Given the description of an element on the screen output the (x, y) to click on. 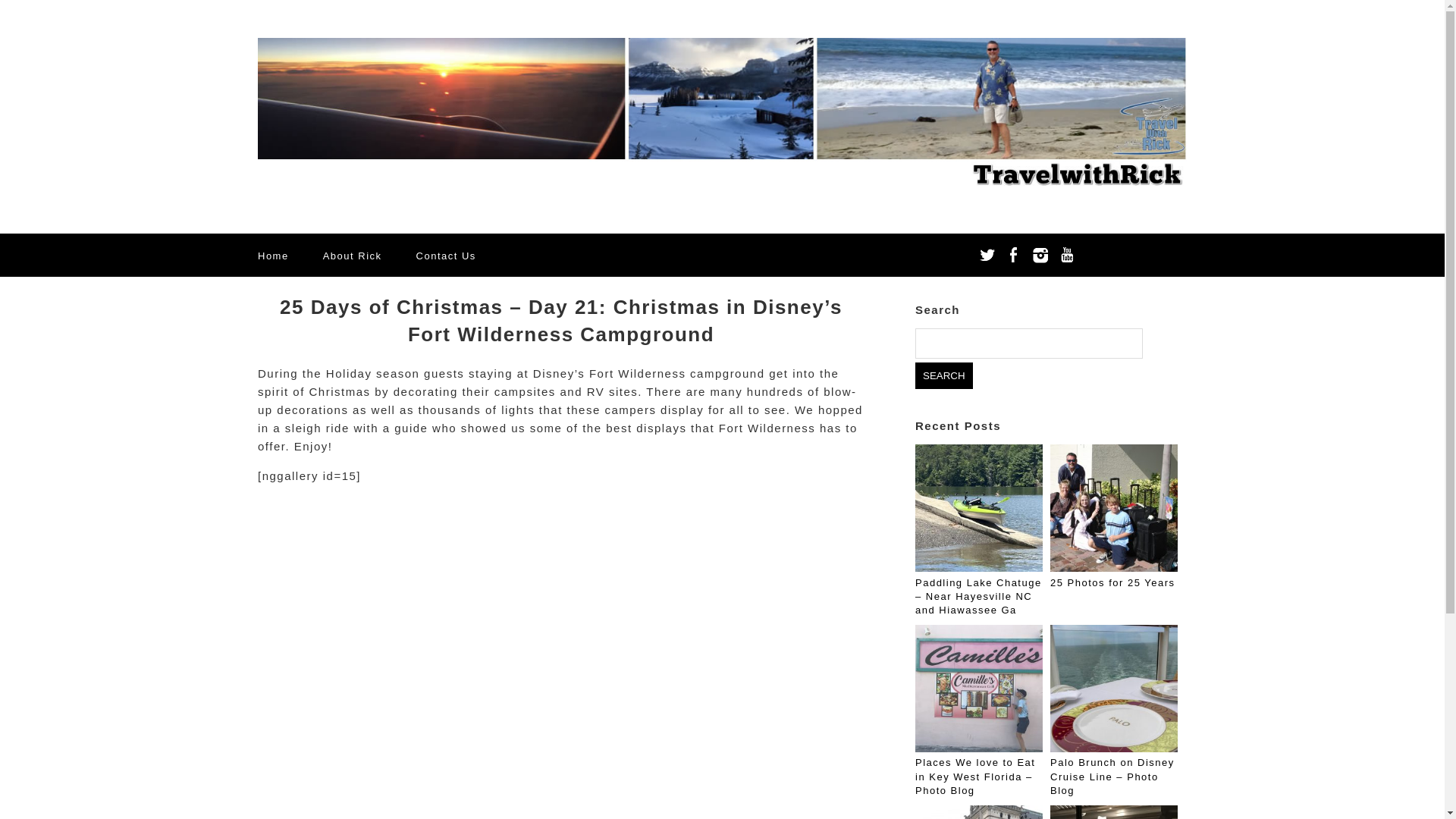
Contact Us (446, 255)
25 Photos for 25 Years (1111, 582)
Search (943, 375)
About Rick (352, 255)
Search (943, 375)
Home (272, 255)
